Given the description of an element on the screen output the (x, y) to click on. 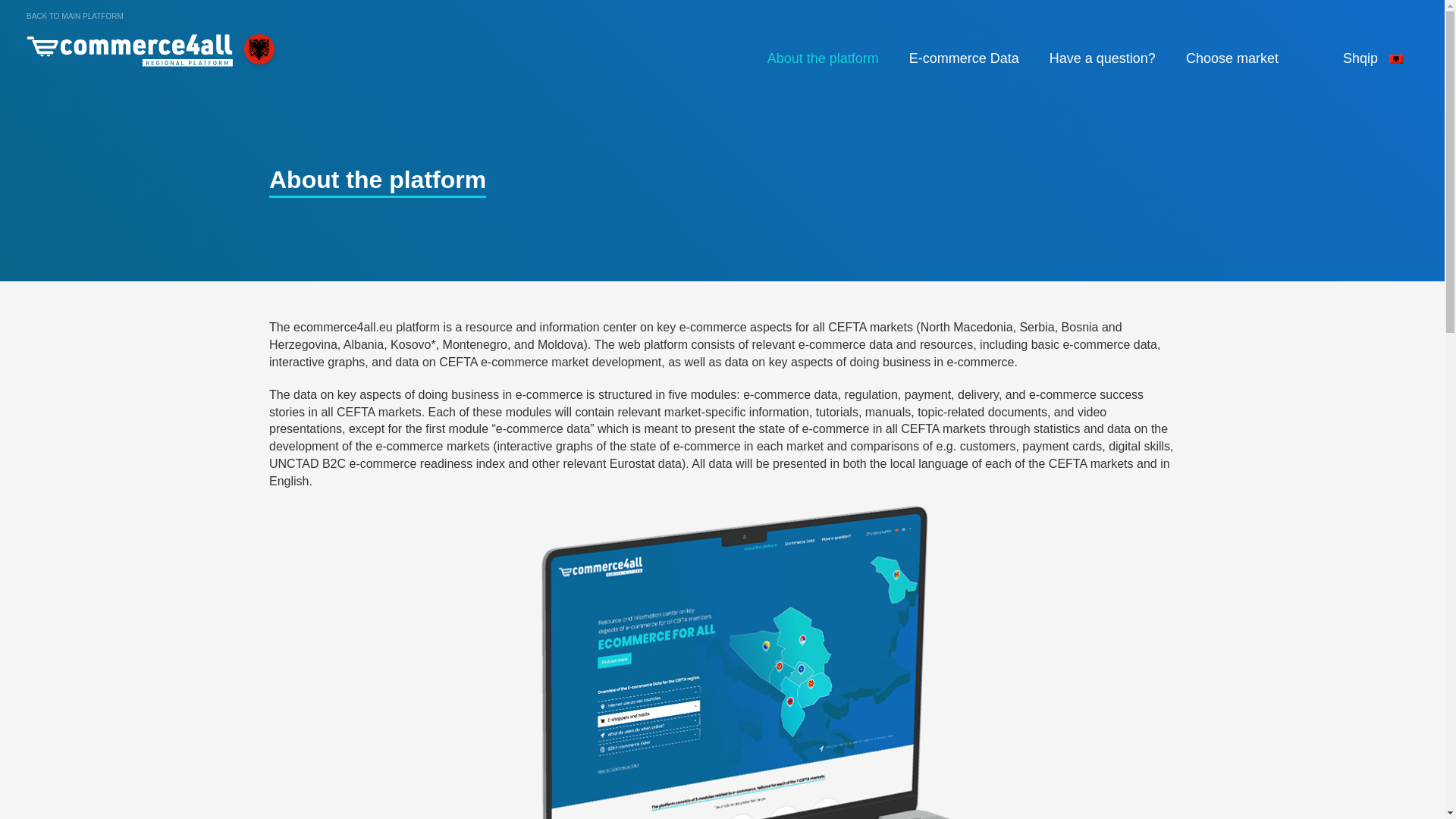
About the platform (822, 57)
E-commerce Data (963, 57)
Choose market (1235, 59)
Choose market (1235, 59)
Have a question? (1101, 57)
 Shqip  (1370, 57)
About the platform (822, 57)
E-commerce Data (963, 57)
Have a question? (1101, 57)
Albania (129, 46)
